Given the description of an element on the screen output the (x, y) to click on. 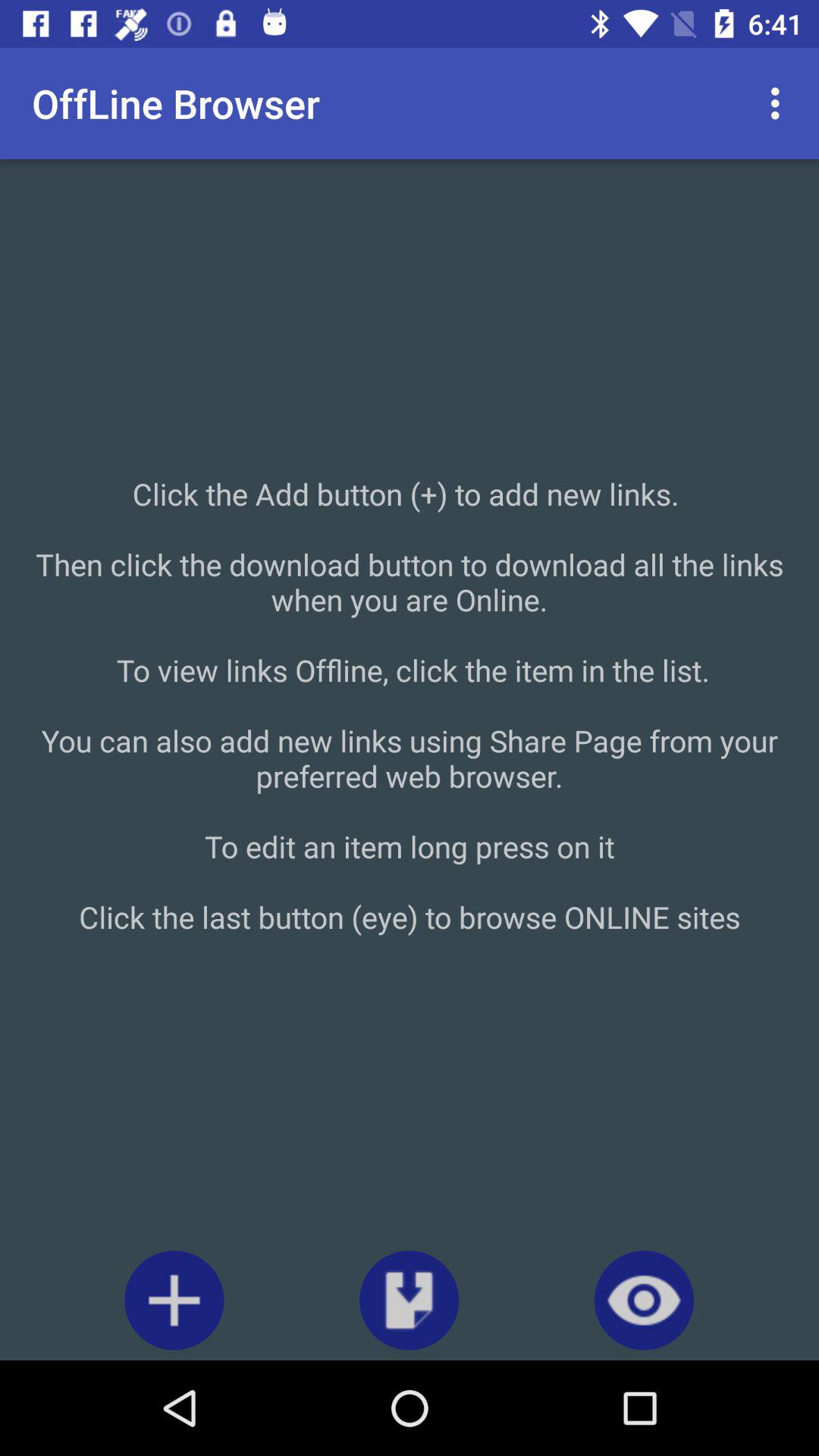
press the app next to offline browser icon (779, 103)
